Given the description of an element on the screen output the (x, y) to click on. 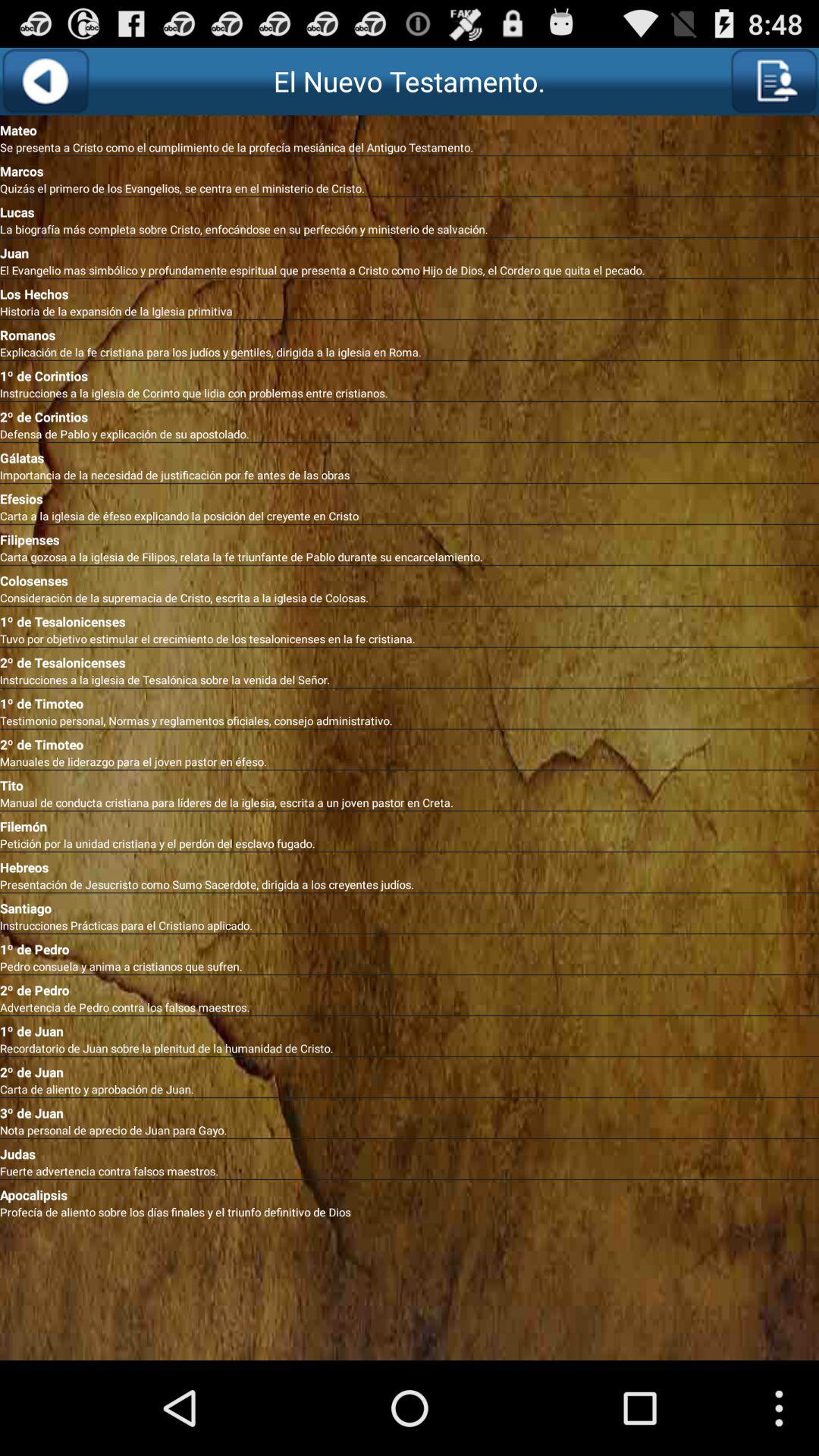
turn on colosenses icon (409, 577)
